Given the description of an element on the screen output the (x, y) to click on. 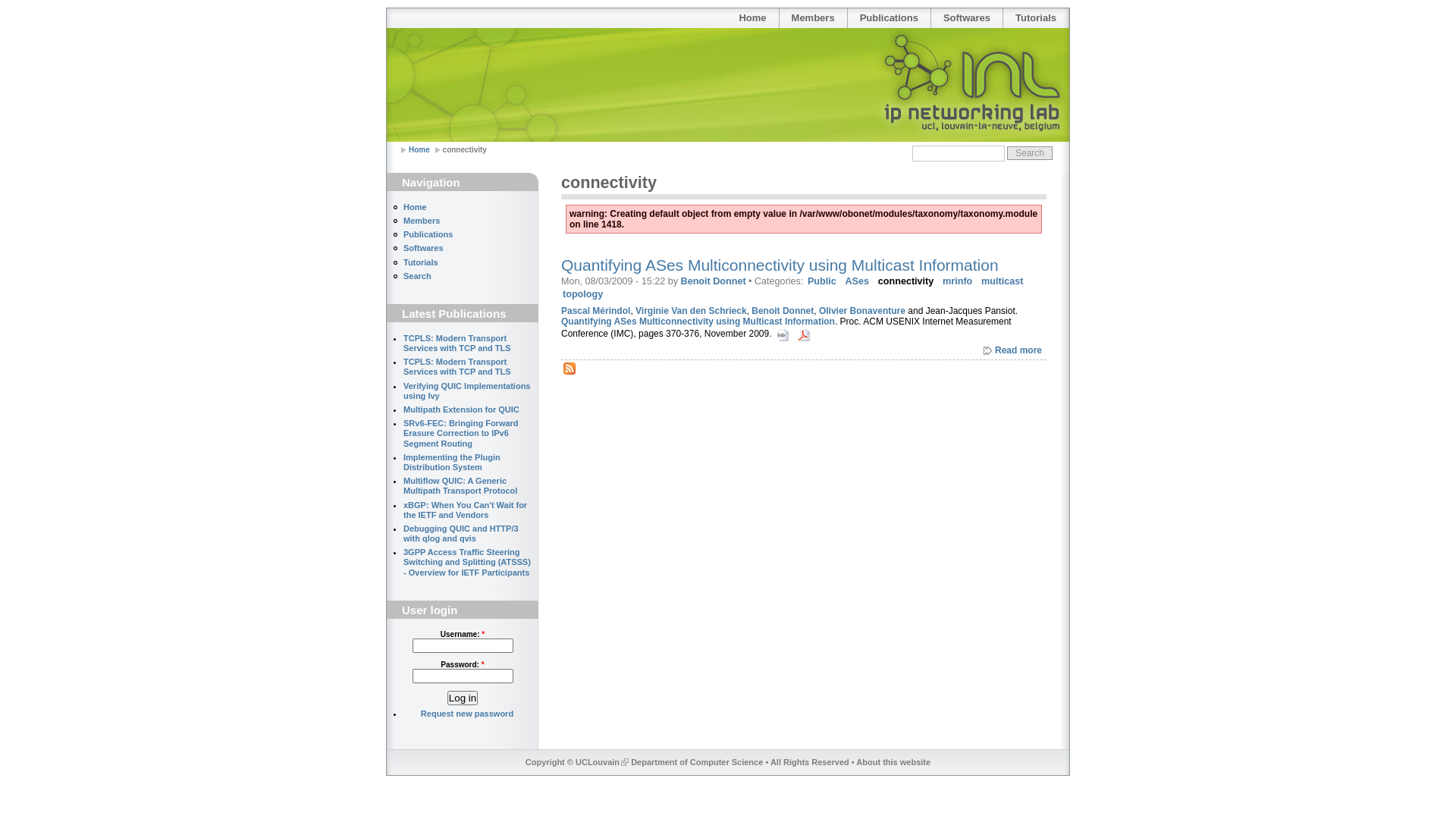
Home Element type: text (418, 149)
Publications Element type: text (888, 18)
  Element type: text (783, 334)
Log in Element type: text (462, 697)
Olivier Bonaventure Element type: text (862, 310)
TCPLS: Modern Transport Services with TCP and TLS Element type: text (457, 342)
Get the bibTeX file Element type: hover (782, 335)
multicast Element type: text (1001, 281)
mrinfo Element type: text (957, 281)
Softwares Element type: text (966, 18)
Home Element type: text (752, 18)
Department of Computer Science Element type: text (696, 761)
Publications Element type: text (427, 233)
Benoit Donnet Element type: text (782, 310)
About this website Element type: text (893, 761)
Public Element type: text (821, 281)
Virginie Van den Schrieck Element type: text (690, 310)
Get the full text file Element type: hover (804, 334)
Implementing the Plugin Distribution System Element type: text (451, 461)
topology Element type: text (582, 293)
Search Element type: text (1029, 153)
connectivity Element type: text (905, 281)
Read more Element type: text (1012, 350)
UCLouvain Element type: text (601, 761)
Verifying QUIC Implementations using Ivy Element type: text (466, 390)
Request new password Element type: text (466, 713)
TCPLS: Modern Transport Services with TCP and TLS Element type: text (457, 366)
Members Element type: text (813, 18)
xBGP: When You Can't Wait for the IETF and Vendors Element type: text (465, 509)
  Element type: text (804, 334)
Debugging QUIC and HTTP/3 with qlog and qvis Element type: text (460, 533)
Home Element type: text (414, 206)
Get the full text file Element type: hover (803, 335)
Tutorials Element type: text (420, 261)
Multipath Extension for QUIC Element type: text (461, 409)
Members Element type: text (421, 220)
Benoit Donnet Element type: text (713, 281)
ASes Element type: text (857, 281)
Tutorials Element type: text (1035, 18)
Search Element type: text (417, 275)
Get the bibTeX file Element type: hover (783, 334)
Softwares Element type: text (423, 247)
Enter the terms you wish to search for. Element type: hover (958, 153)
Syndicate content Element type: hover (569, 368)
Multiflow QUIC: A Generic Multipath Transport Protocol Element type: text (460, 485)
